Given the description of an element on the screen output the (x, y) to click on. 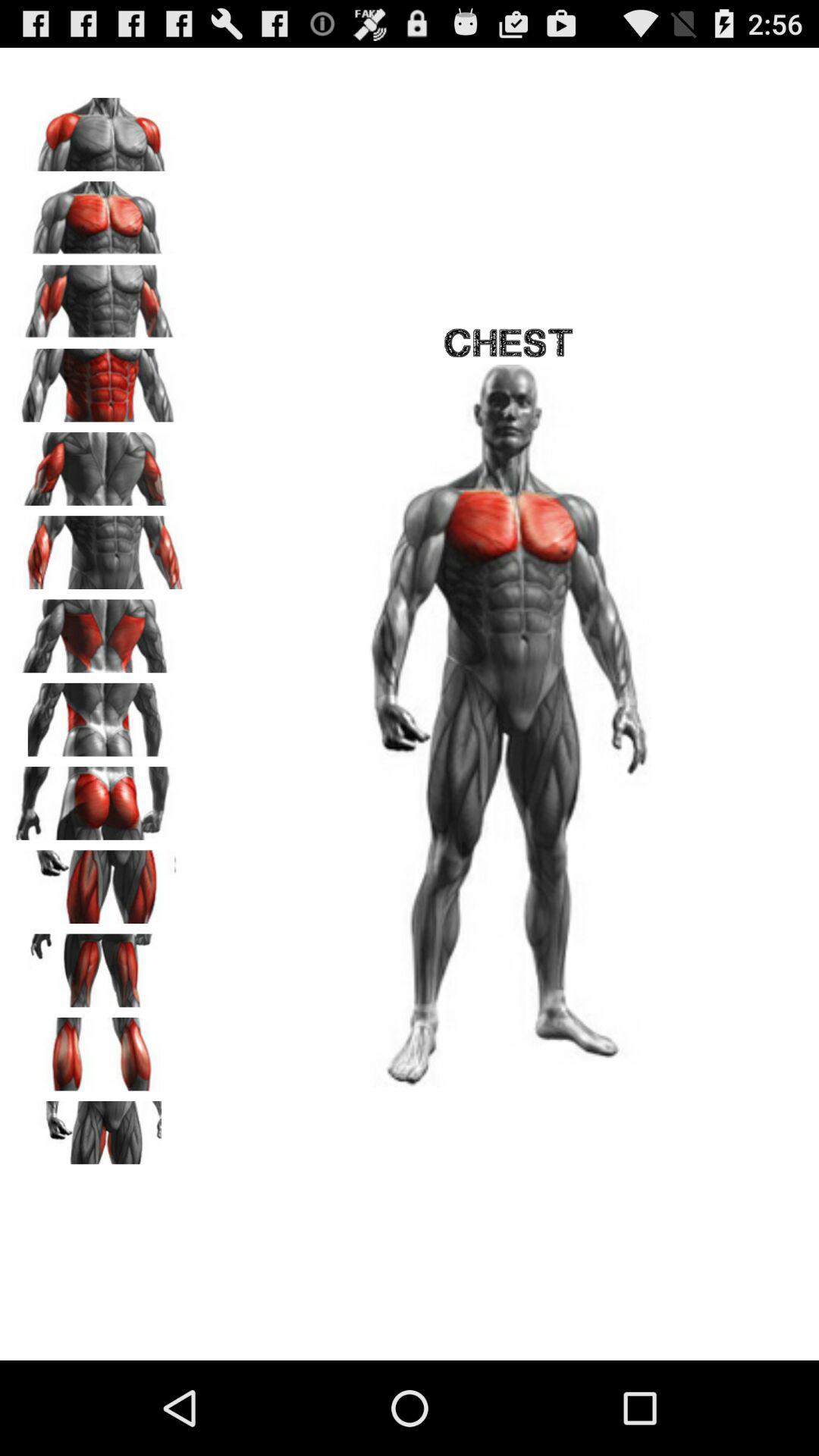
focus on thighs (99, 881)
